Given the description of an element on the screen output the (x, y) to click on. 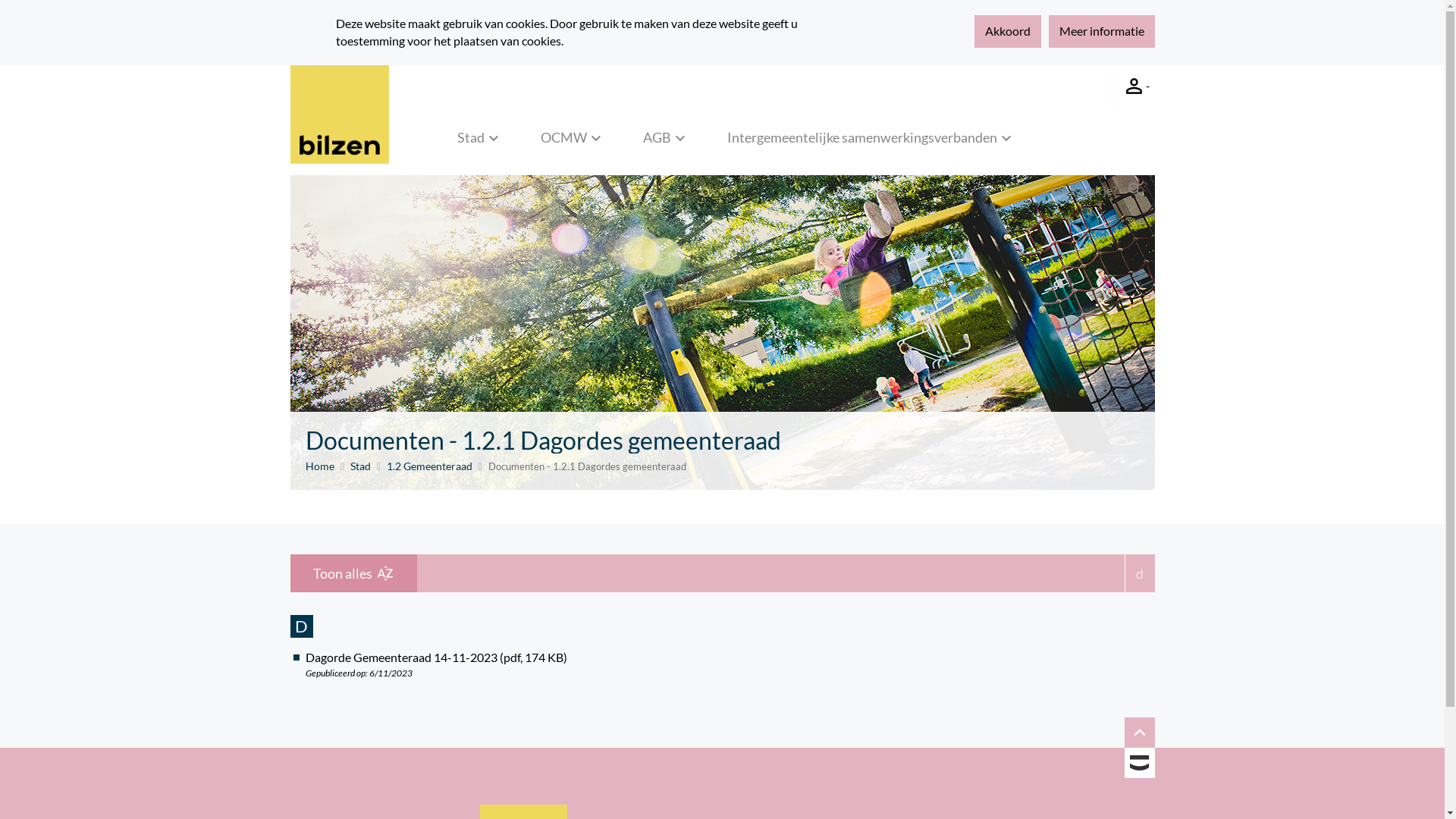
Meer informatie Element type: text (1101, 31)
Akkoord Element type: text (1006, 31)
d Element type: text (1138, 573)
AGB Element type: text (665, 146)
Dagorde Gemeenteraad 14-11-2023 (pdf, 174 KB) Element type: text (435, 656)
Stad Element type: text (479, 146)
Home Element type: text (318, 465)
Intergemeentelijke samenwerkingsverbanden Element type: text (871, 146)
Stad Element type: text (360, 465)
1.2 Gemeenteraad Element type: text (429, 465)
Ga naar de startpagina Element type: hover (338, 114)
OCMW Element type: text (572, 146)
